Given the description of an element on the screen output the (x, y) to click on. 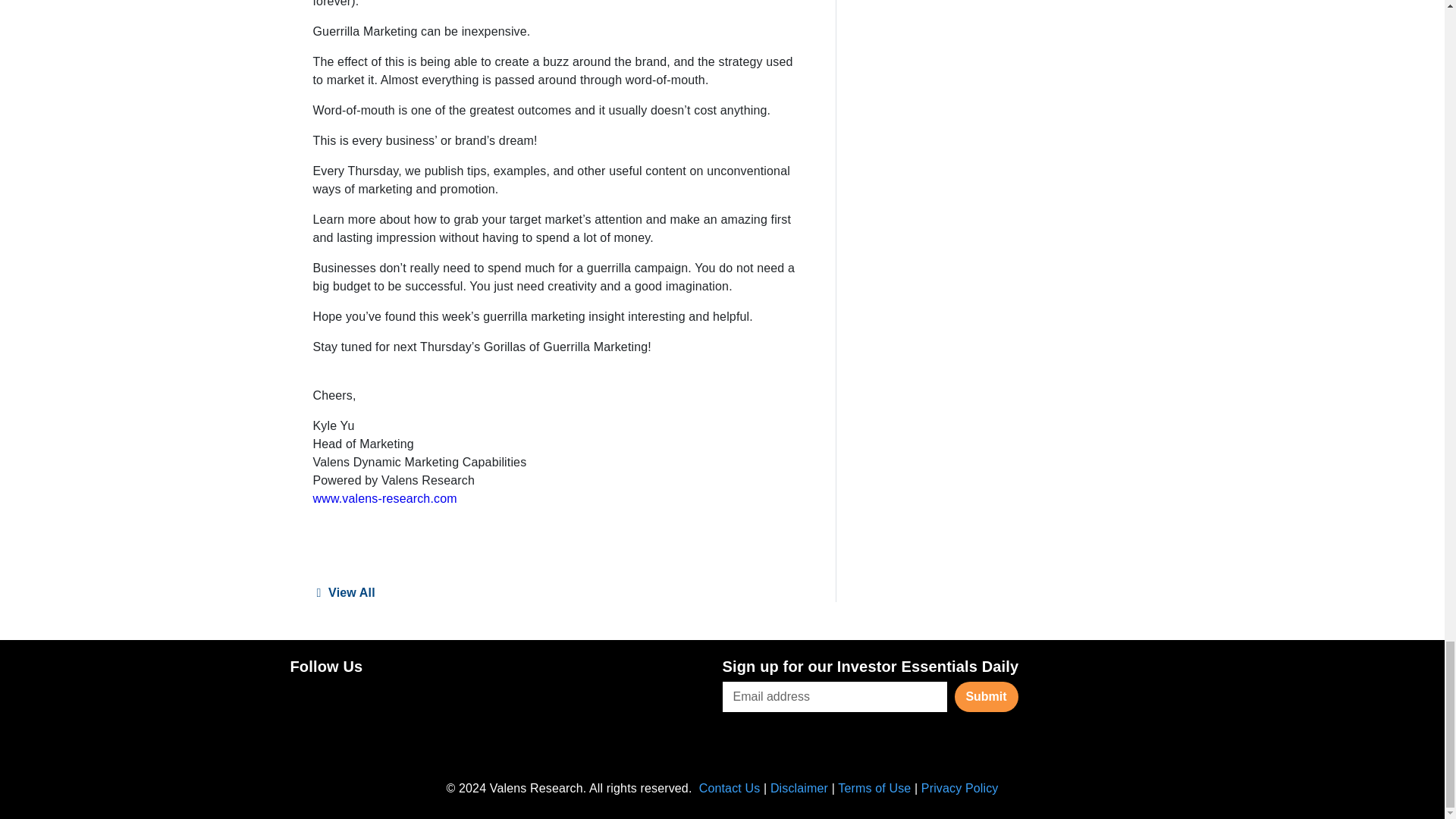
View All (343, 592)
www.valens-research.com (385, 498)
